Given the description of an element on the screen output the (x, y) to click on. 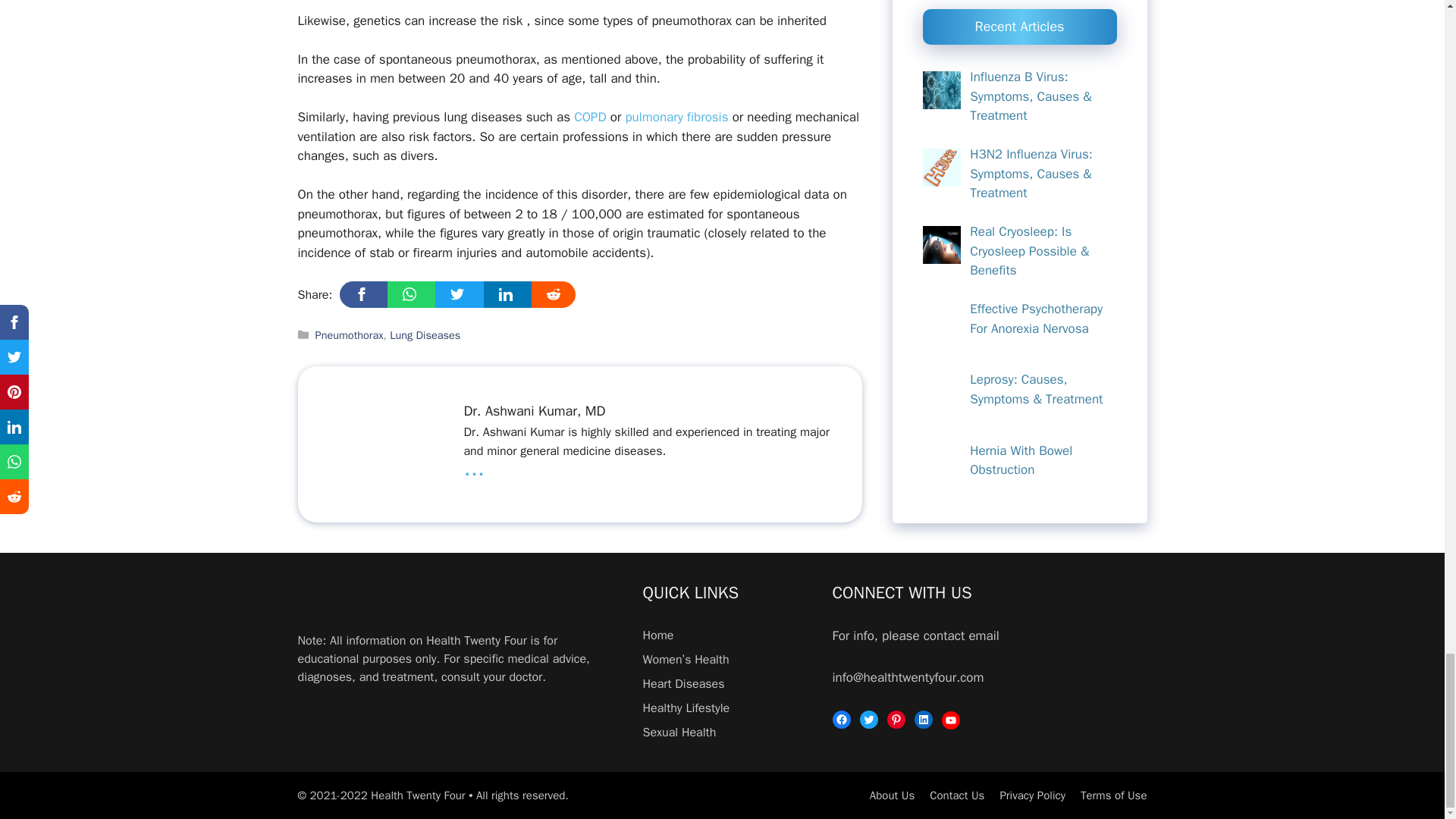
Lung Diseases (425, 335)
Pneumothorax (349, 335)
pulmonary fibrosis (678, 116)
Read more about this author (473, 468)
... (473, 468)
COPD (589, 116)
